Given the description of an element on the screen output the (x, y) to click on. 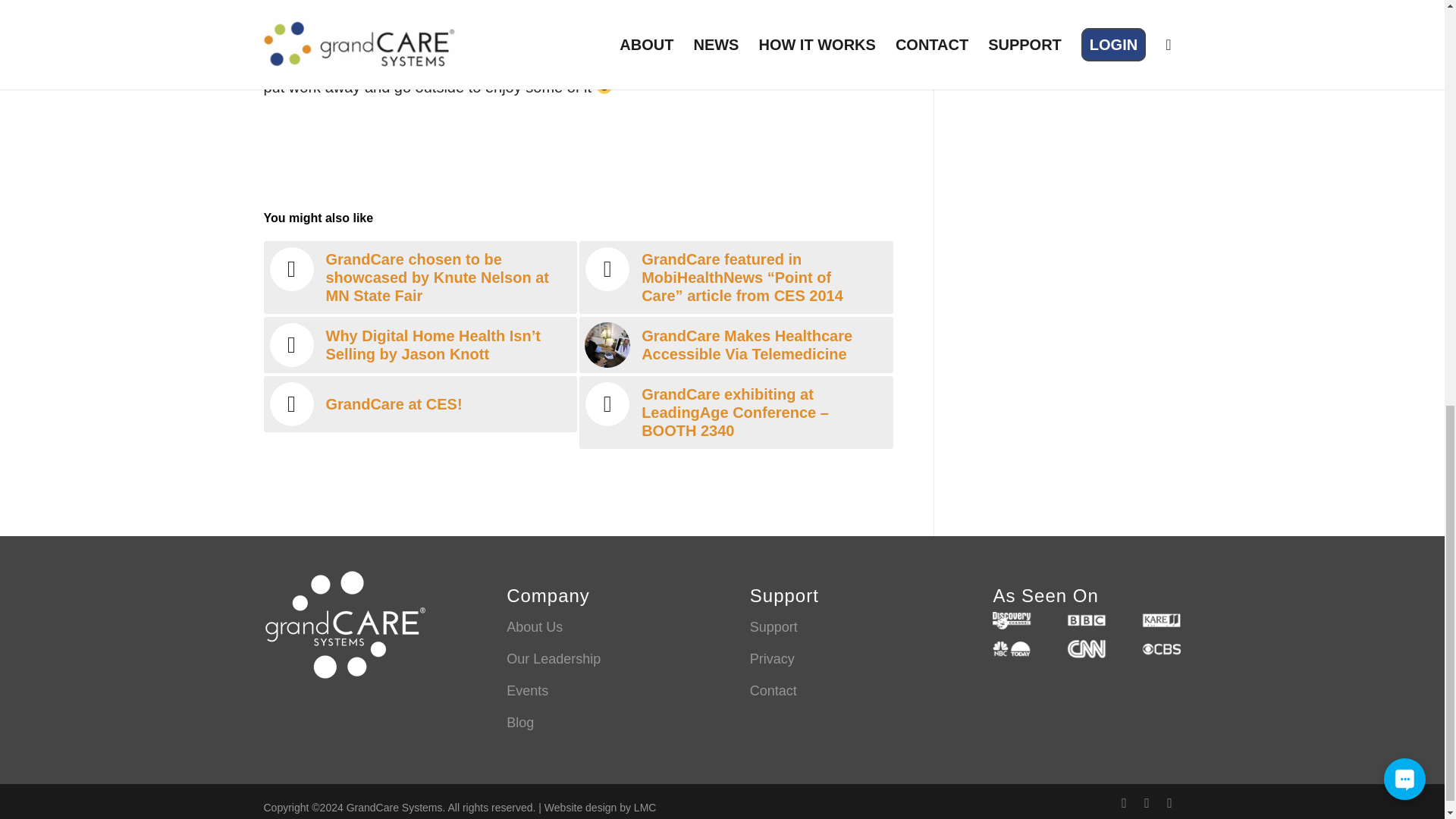
GC-esther-dr (607, 344)
GrandCare at CES! (420, 403)
GrandCare Makes Healthcare Accessible Via Telemedicine (736, 344)
GrandCare at CES! (420, 403)
GrandCare Makes Healthcare Accessible Via Telemedicine (736, 344)
